Given the description of an element on the screen output the (x, y) to click on. 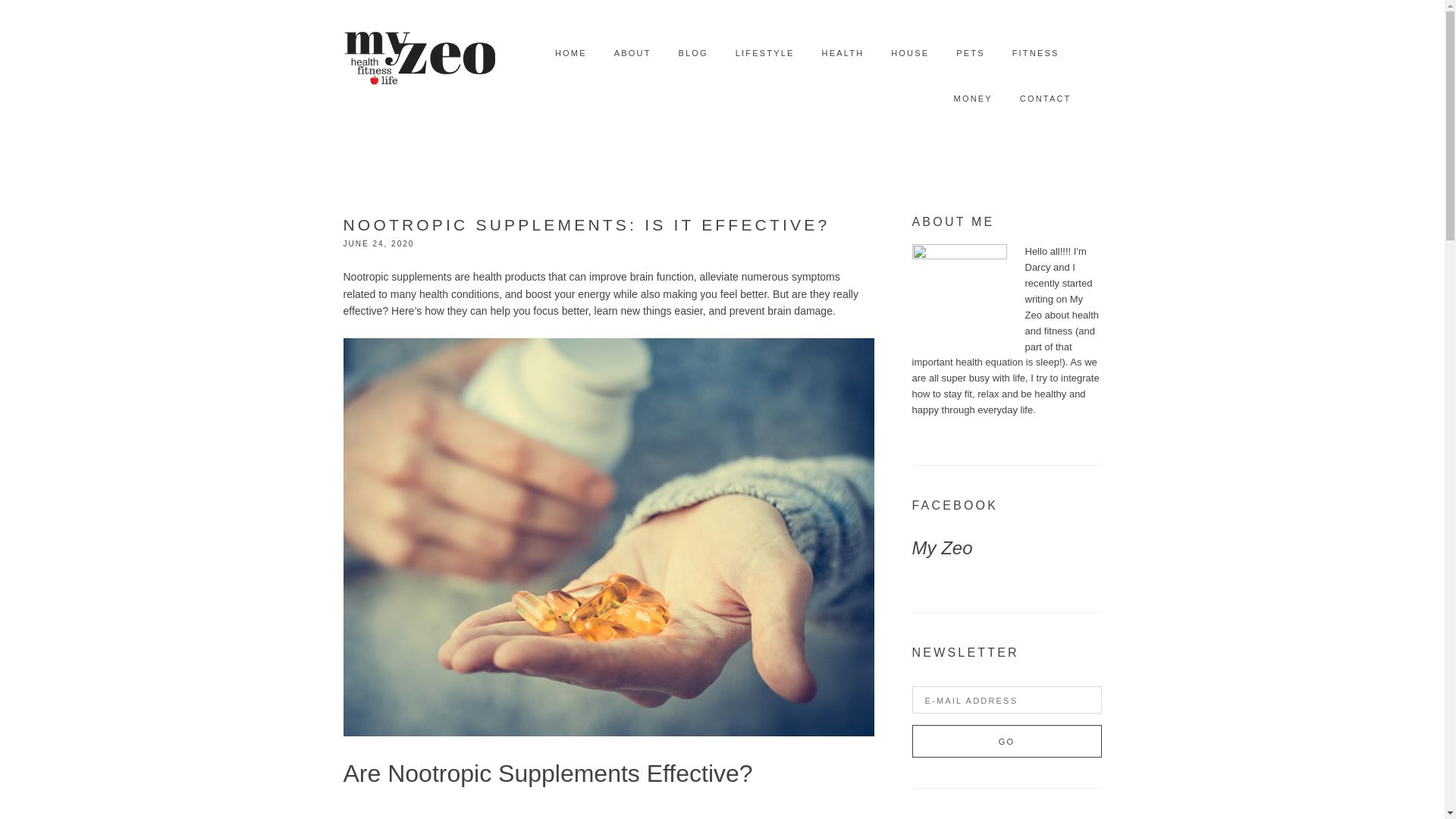
My Zeo (941, 547)
FITNESS (1035, 53)
Go (1005, 740)
Go (1005, 740)
MY ZEO (418, 53)
CONTACT (1045, 98)
LIFESTYLE (764, 53)
HEALTH (843, 53)
